Given the description of an element on the screen output the (x, y) to click on. 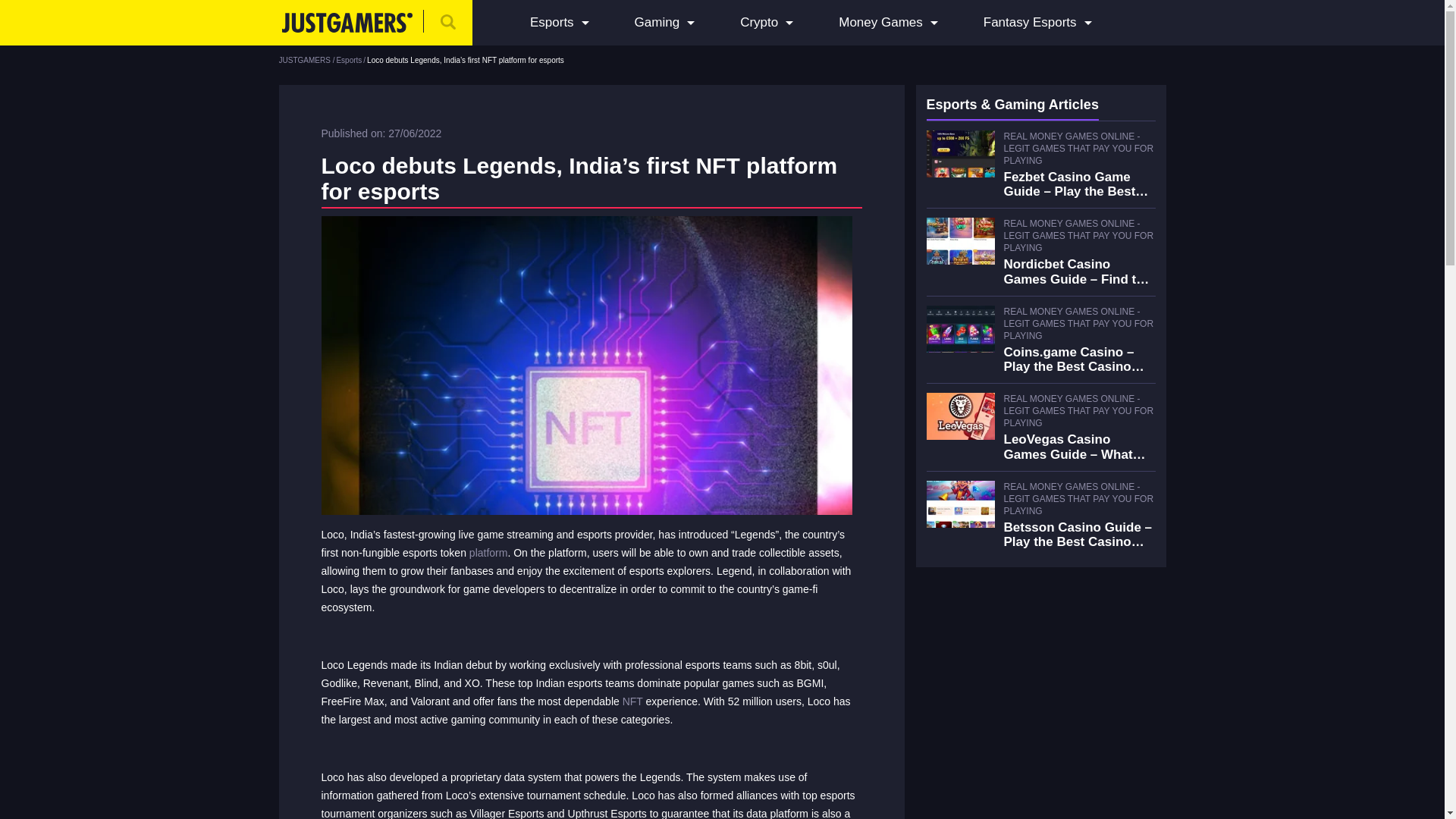
Esports (551, 22)
Gaming (656, 22)
Money Games (880, 22)
